Given the description of an element on the screen output the (x, y) to click on. 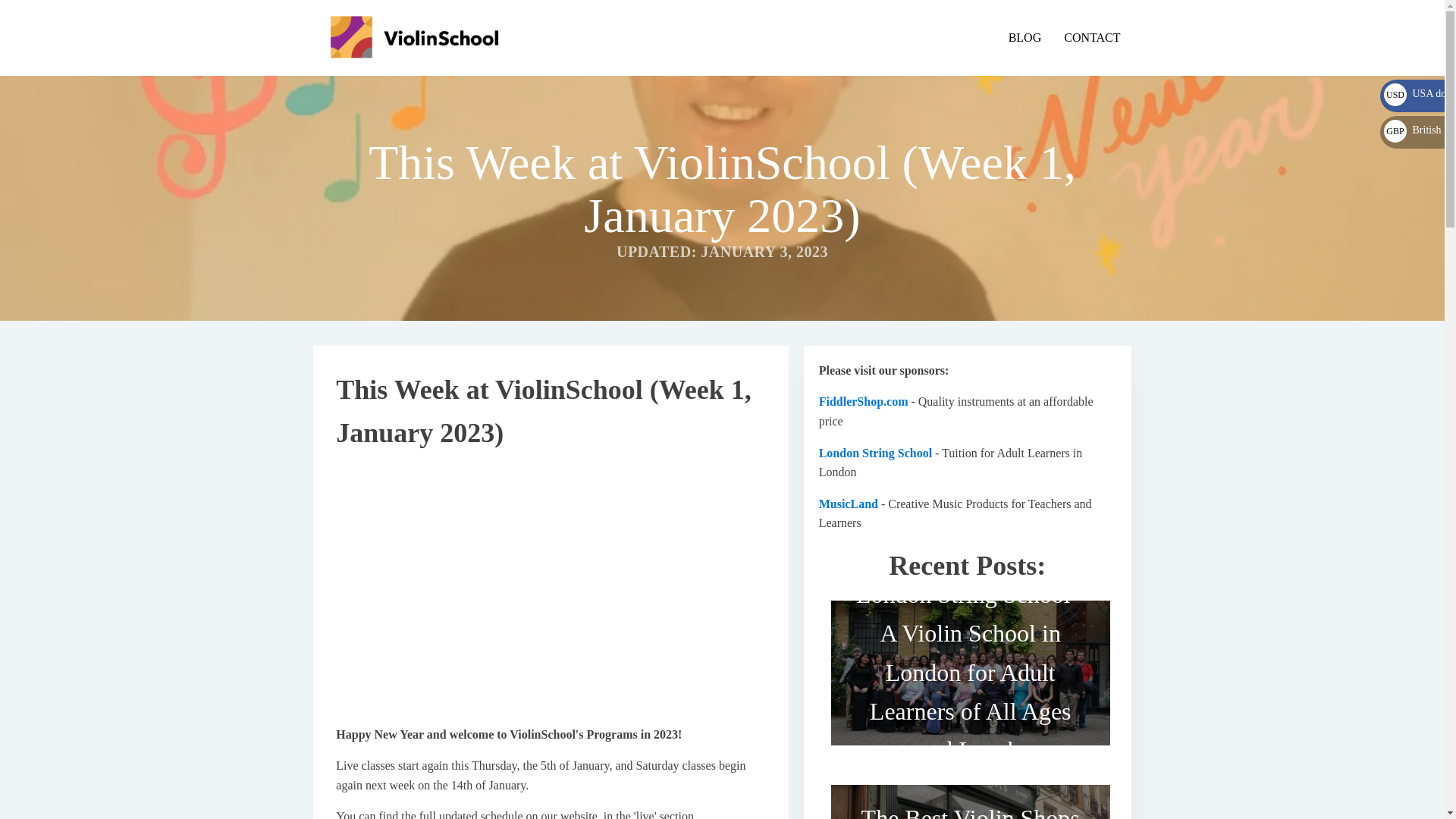
The Best Violin Shops in London, England in 2024 (970, 796)
CONTACT (1091, 37)
London String School (874, 452)
MusicLand (847, 503)
YouTube video player (549, 586)
FiddlerShop.com (863, 400)
BLOG (1024, 37)
